Given the description of an element on the screen output the (x, y) to click on. 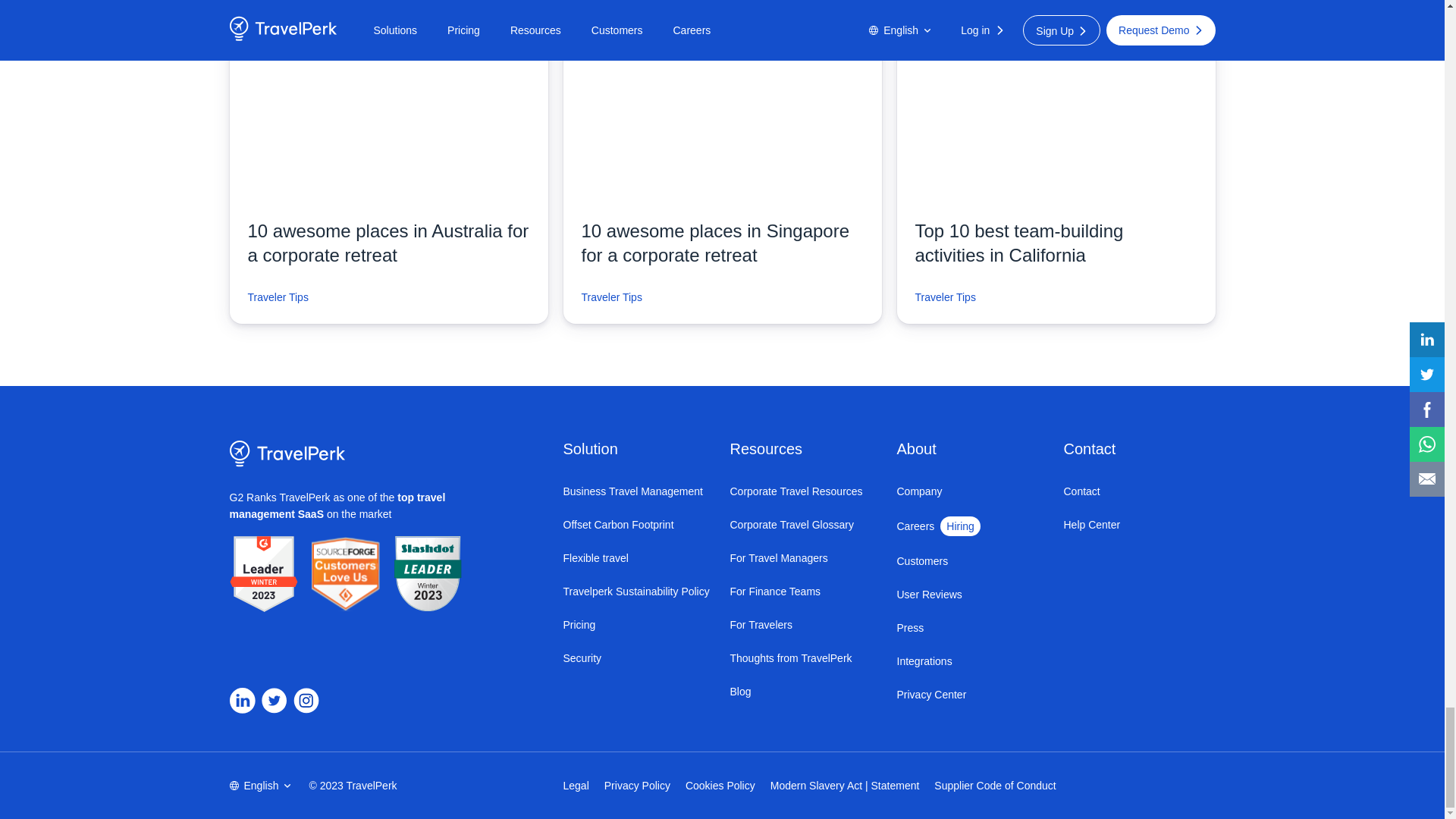
TravelPerk Logo (286, 453)
